Given the description of an element on the screen output the (x, y) to click on. 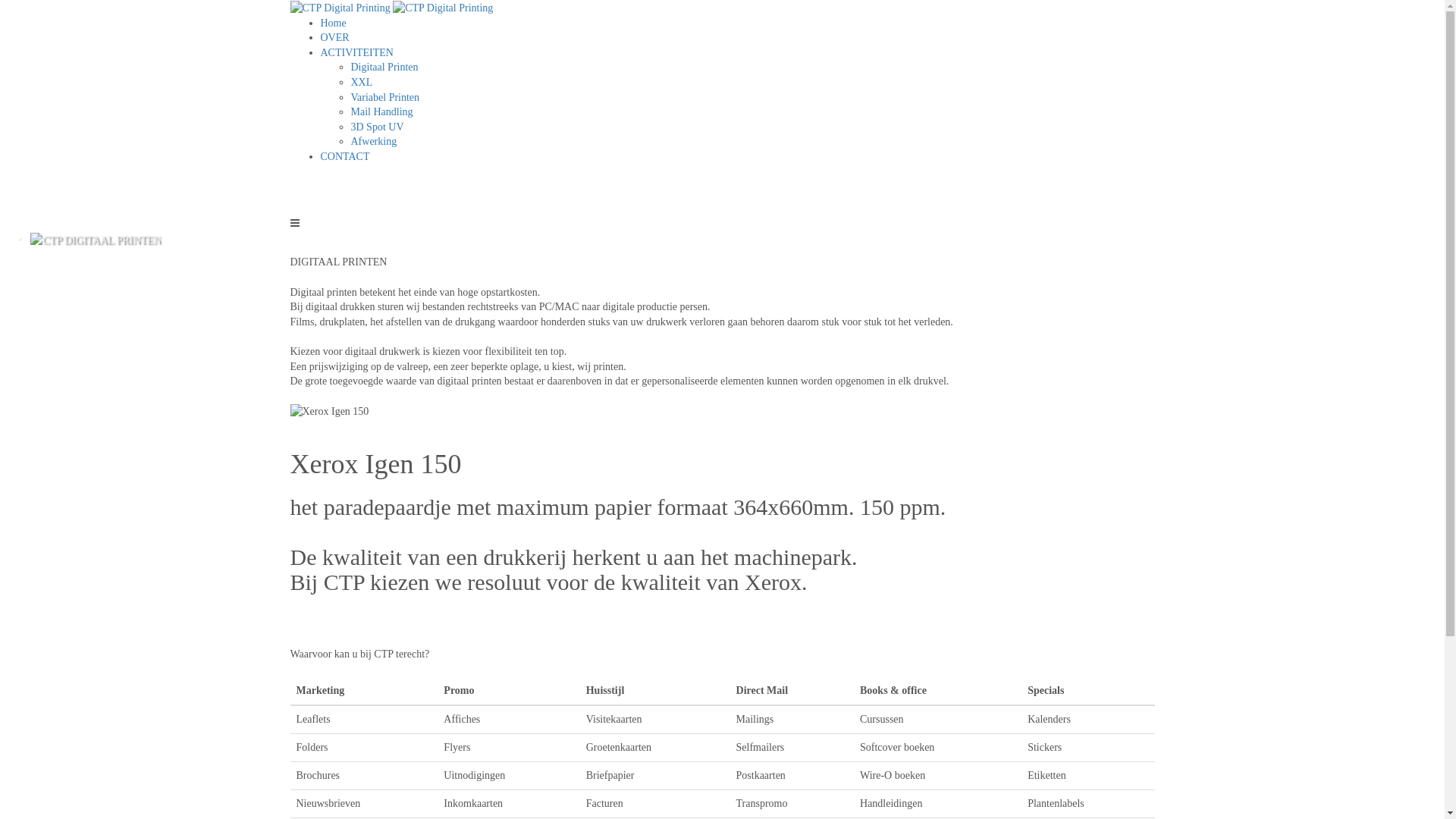
XXL Element type: text (752, 82)
Mail Handling Element type: text (752, 111)
Home Element type: text (737, 23)
3D Spot UV Element type: text (752, 126)
Afwerking Element type: text (752, 141)
CONTACT Element type: text (344, 156)
OVER Element type: text (334, 37)
ACTIVITEITEN Element type: text (737, 52)
Digitaal Printen Element type: text (752, 67)
Variabel Printen Element type: text (752, 97)
